Given the description of an element on the screen output the (x, y) to click on. 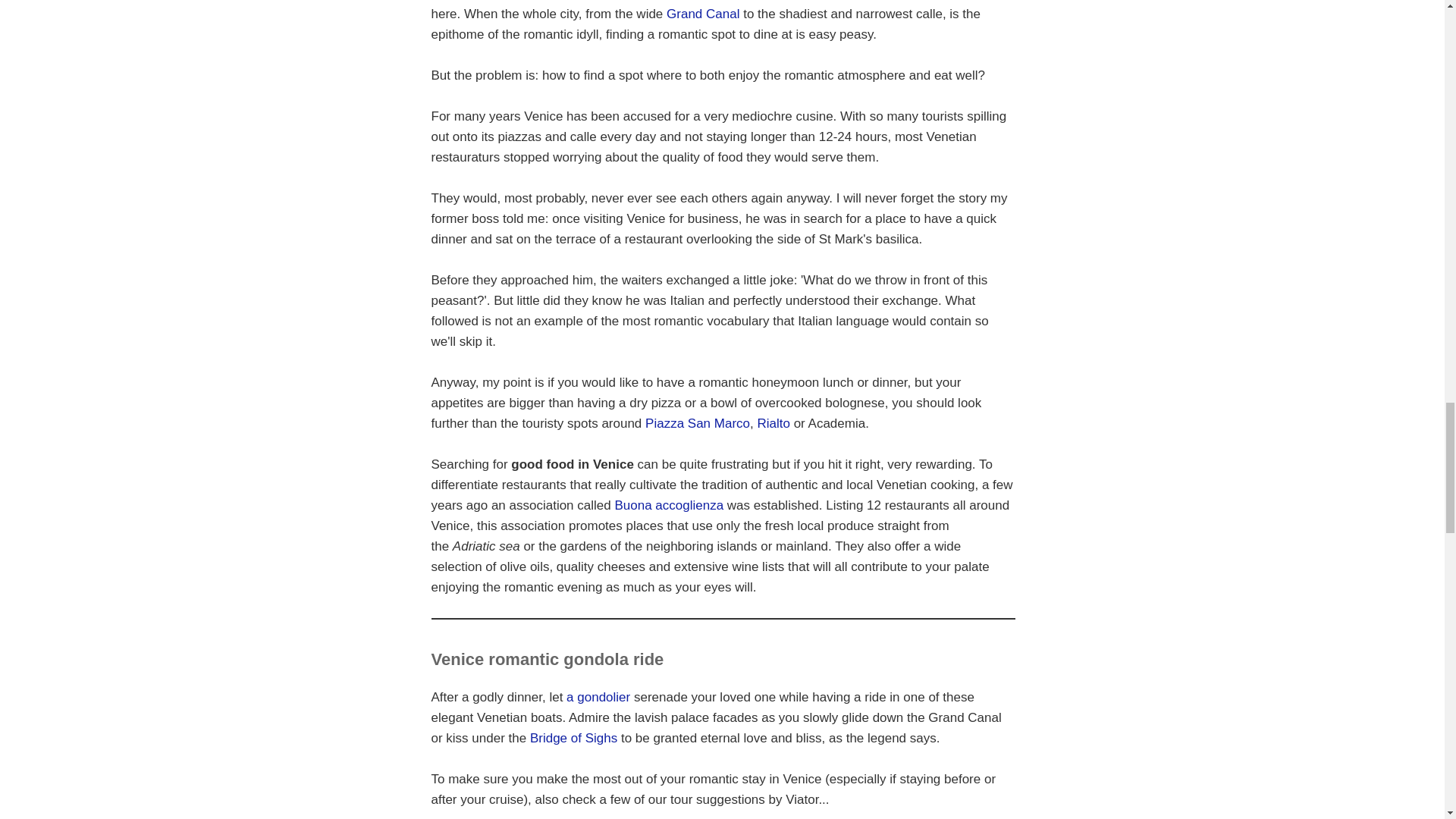
Grand Canal (702, 13)
a gondolier (598, 697)
Buona accoglienza (668, 504)
Piazza San Marco (697, 423)
Bridge of Sighs (573, 738)
Rialto (773, 423)
